Given the description of an element on the screen output the (x, y) to click on. 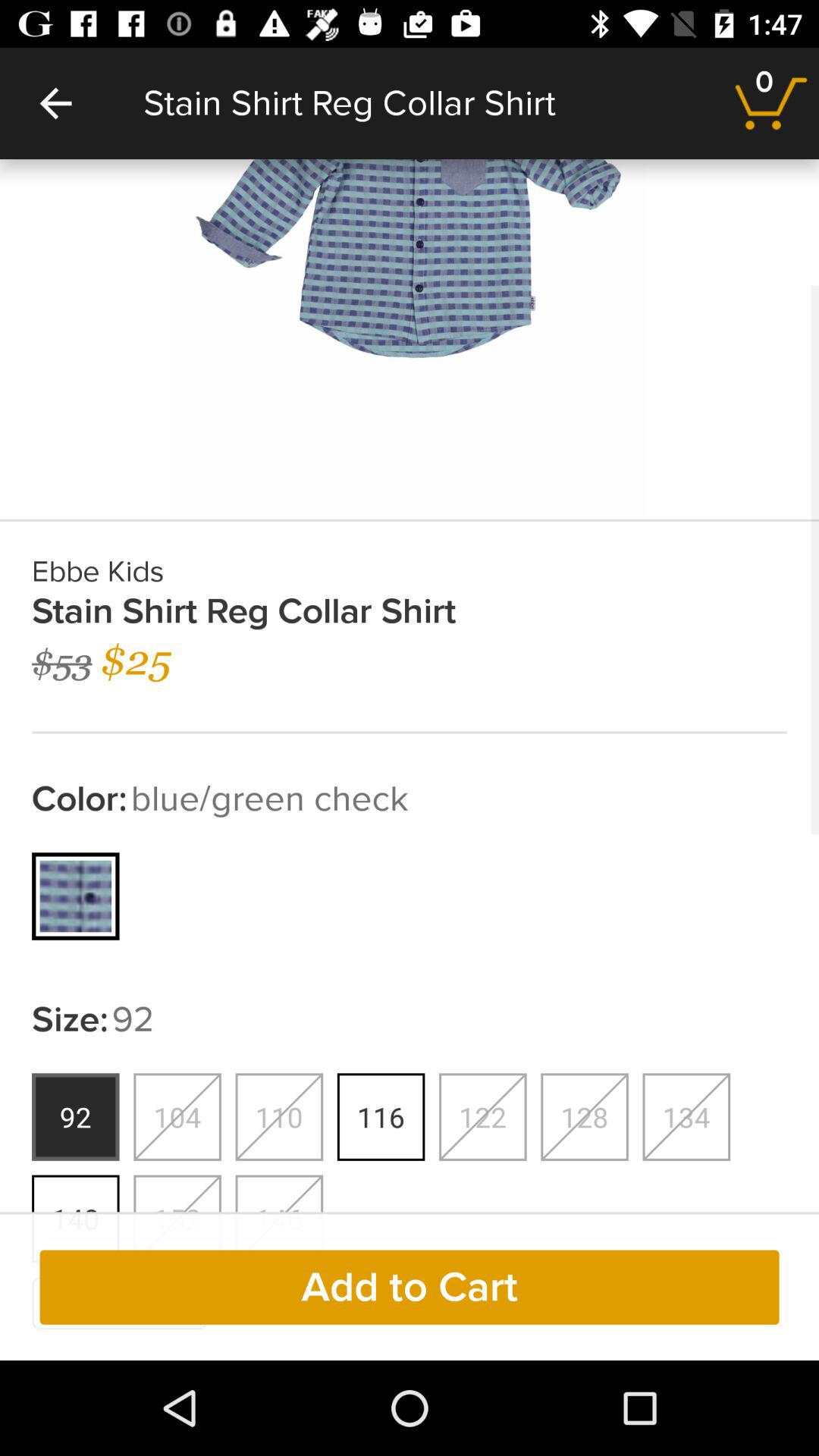
click on icon above size 92 (75, 895)
click on the sixth button from left under size92 (584, 1116)
